Given the description of an element on the screen output the (x, y) to click on. 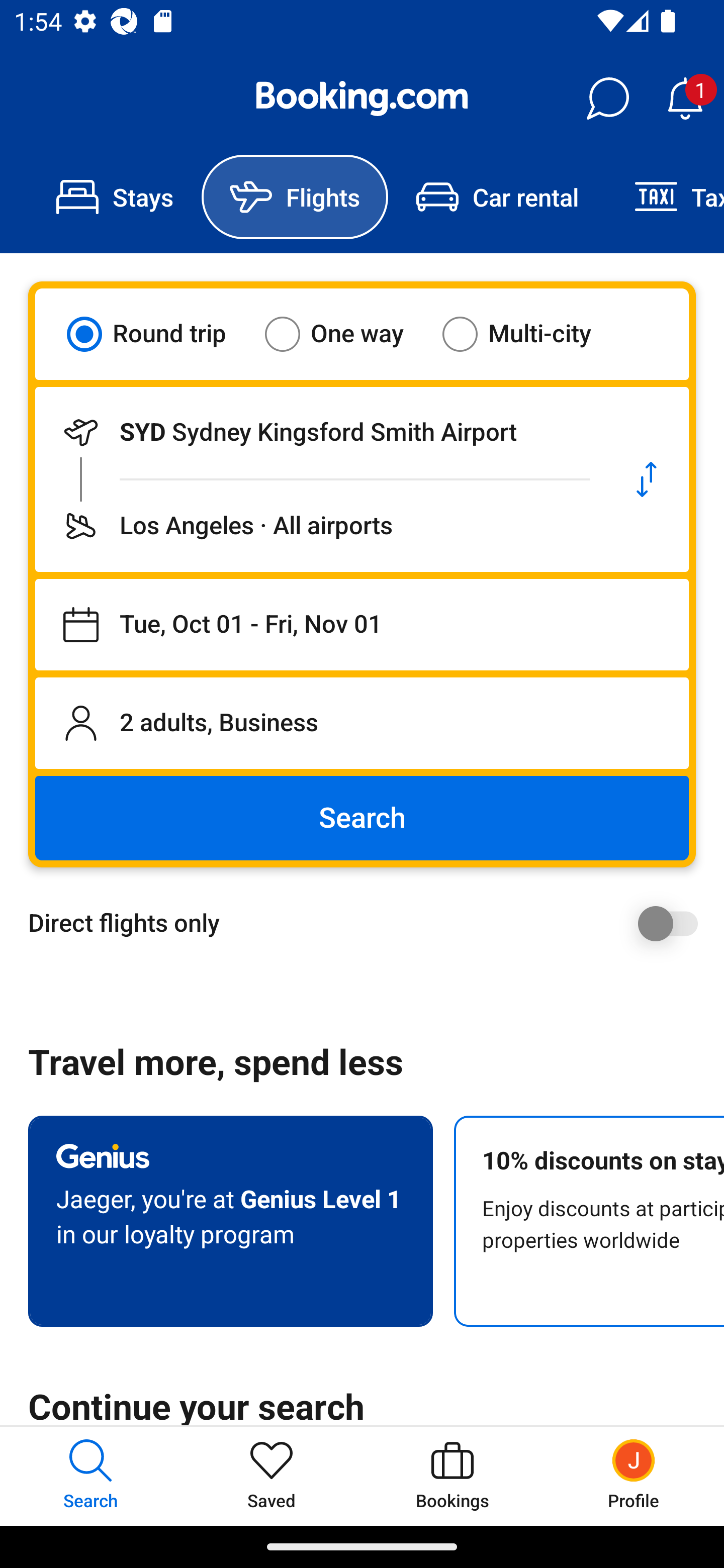
Messages (607, 98)
Notifications (685, 98)
Stays (114, 197)
Flights (294, 197)
Car rental (497, 197)
Taxi (665, 197)
One way (346, 333)
Multi-city (528, 333)
Departing from SYD Sydney Kingsford Smith Airport (319, 432)
Swap departure location and destination (646, 479)
Flying to Los Angeles · All airports (319, 525)
Departing on Tue, Oct 01, returning on Fri, Nov 01 (361, 624)
2 adults, Business (361, 722)
Search (361, 818)
Direct flights only (369, 923)
Saved (271, 1475)
Bookings (452, 1475)
Profile (633, 1475)
